Given the description of an element on the screen output the (x, y) to click on. 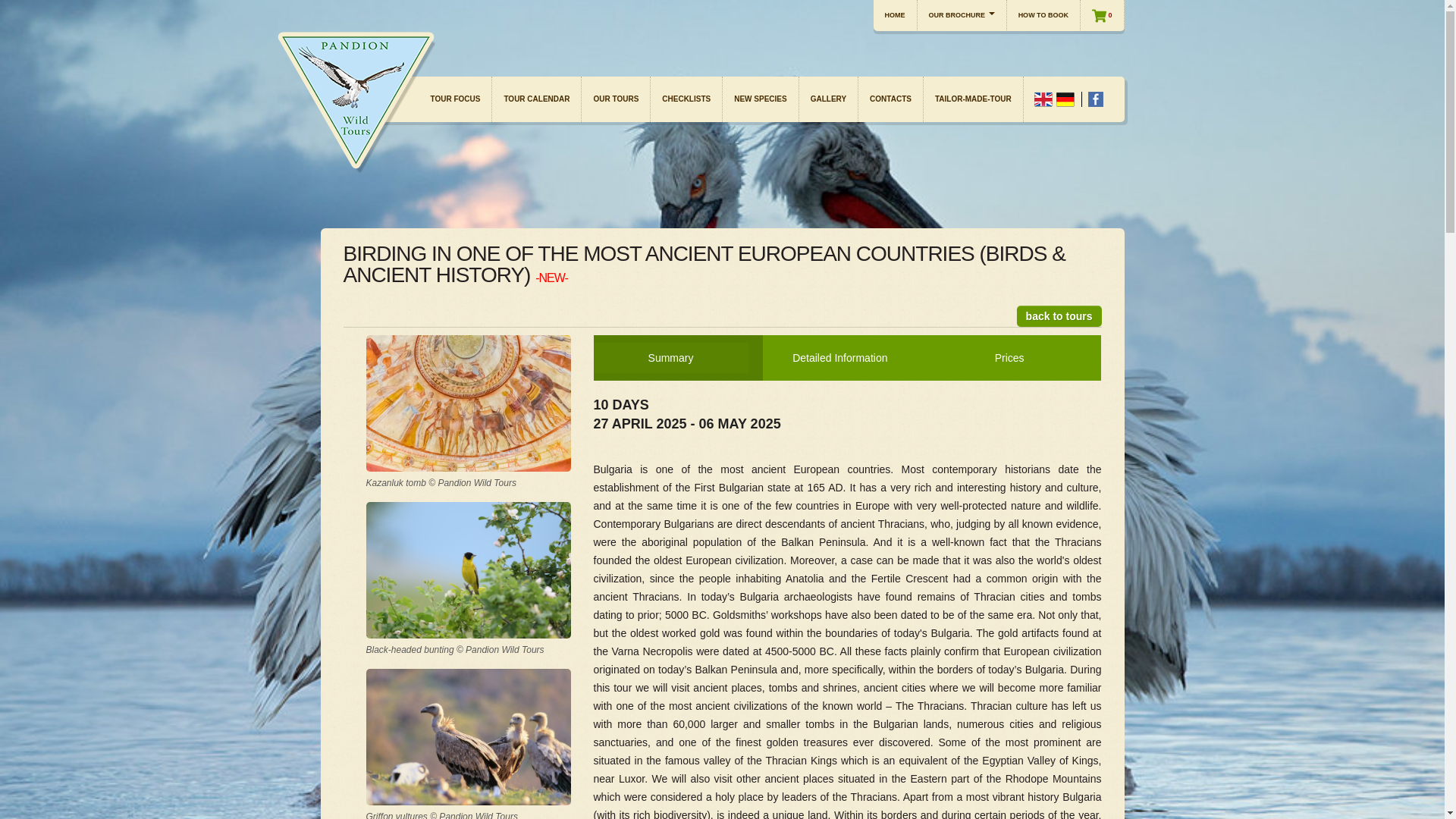
CHECKLISTS (686, 99)
GALLERY (829, 99)
back to tours (1059, 315)
FB (1095, 99)
DE (1065, 99)
TOUR CALENDAR (536, 99)
NEW SPECIES (759, 99)
0 (1102, 15)
OUR BROCHURE (962, 15)
HOME (895, 15)
TOUR FOCUS (455, 99)
TAILOR-MADE-TOUR (973, 99)
EN (1042, 99)
CONTACTS (891, 99)
Prices (1008, 358)
